Given the description of an element on the screen output the (x, y) to click on. 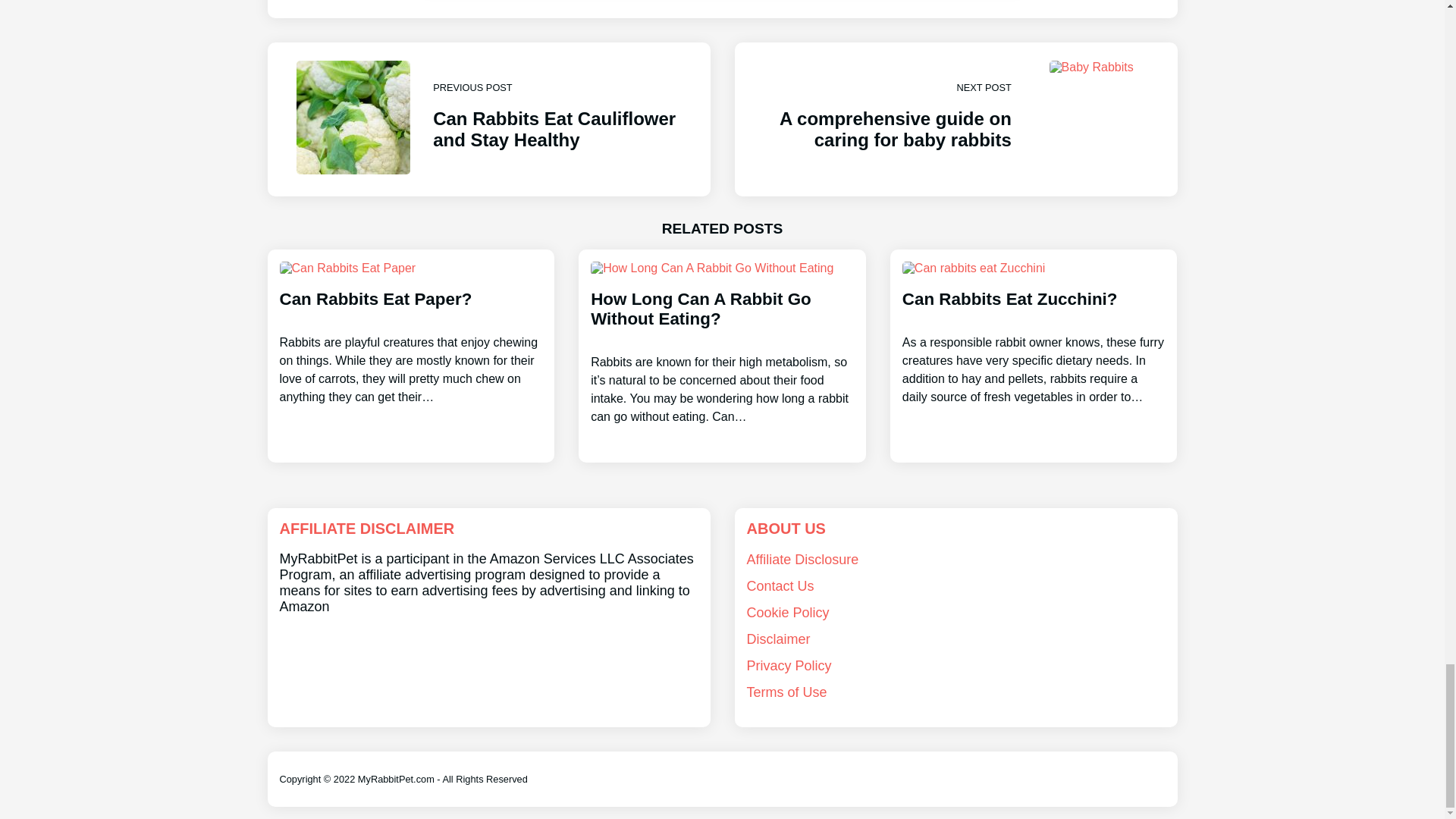
Cookie Policy (488, 119)
Contact Us (786, 612)
Can Rabbits Eat Zucchini? (954, 119)
Can Rabbits Eat Paper? (779, 585)
Affiliate Disclosure (1034, 333)
How Long Can A Rabbit Go Without Eating? (410, 333)
